Given the description of an element on the screen output the (x, y) to click on. 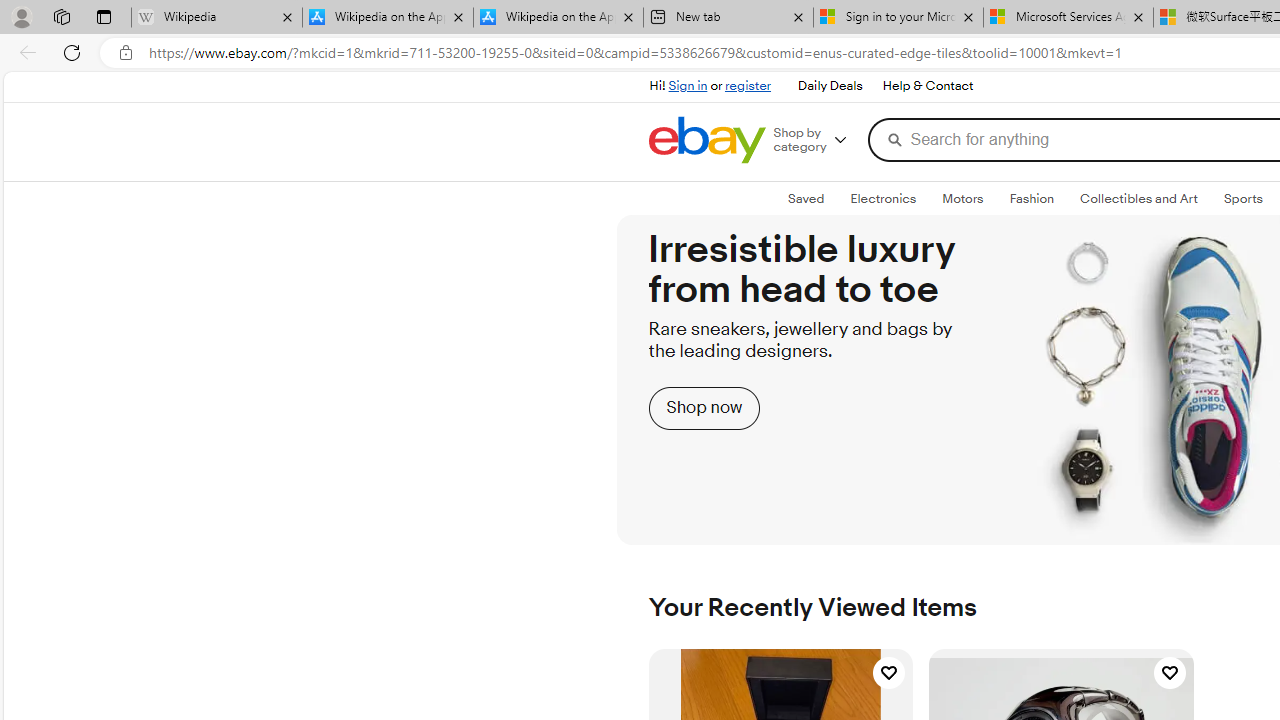
Sports (1243, 198)
Shop by category (816, 140)
Sign in to your Microsoft account (898, 17)
Wikipedia - Sleeping (216, 17)
Help & Contact (927, 86)
register (747, 85)
eBay Home (706, 139)
Saved (806, 199)
ElectronicsExpand: Electronics (883, 199)
Help & Contact (926, 85)
Daily Deals (829, 85)
SportsExpand: Sports (1243, 199)
